Given the description of an element on the screen output the (x, y) to click on. 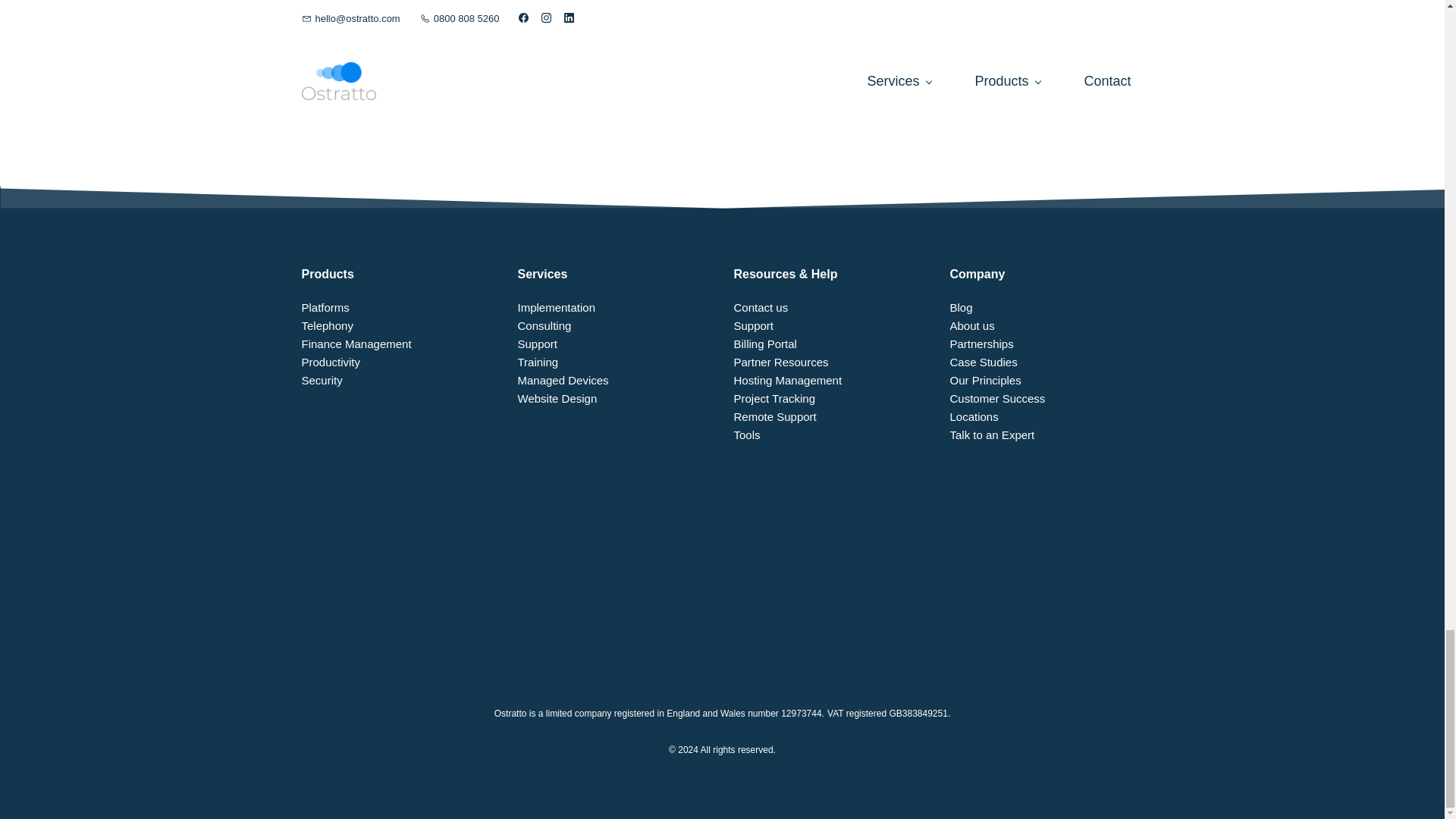
Managed Devices (562, 379)
Platforms (325, 307)
Telephony (327, 325)
Productivity (331, 361)
Implementation (555, 307)
Finance Management (356, 343)
Security (321, 379)
